Given the description of an element on the screen output the (x, y) to click on. 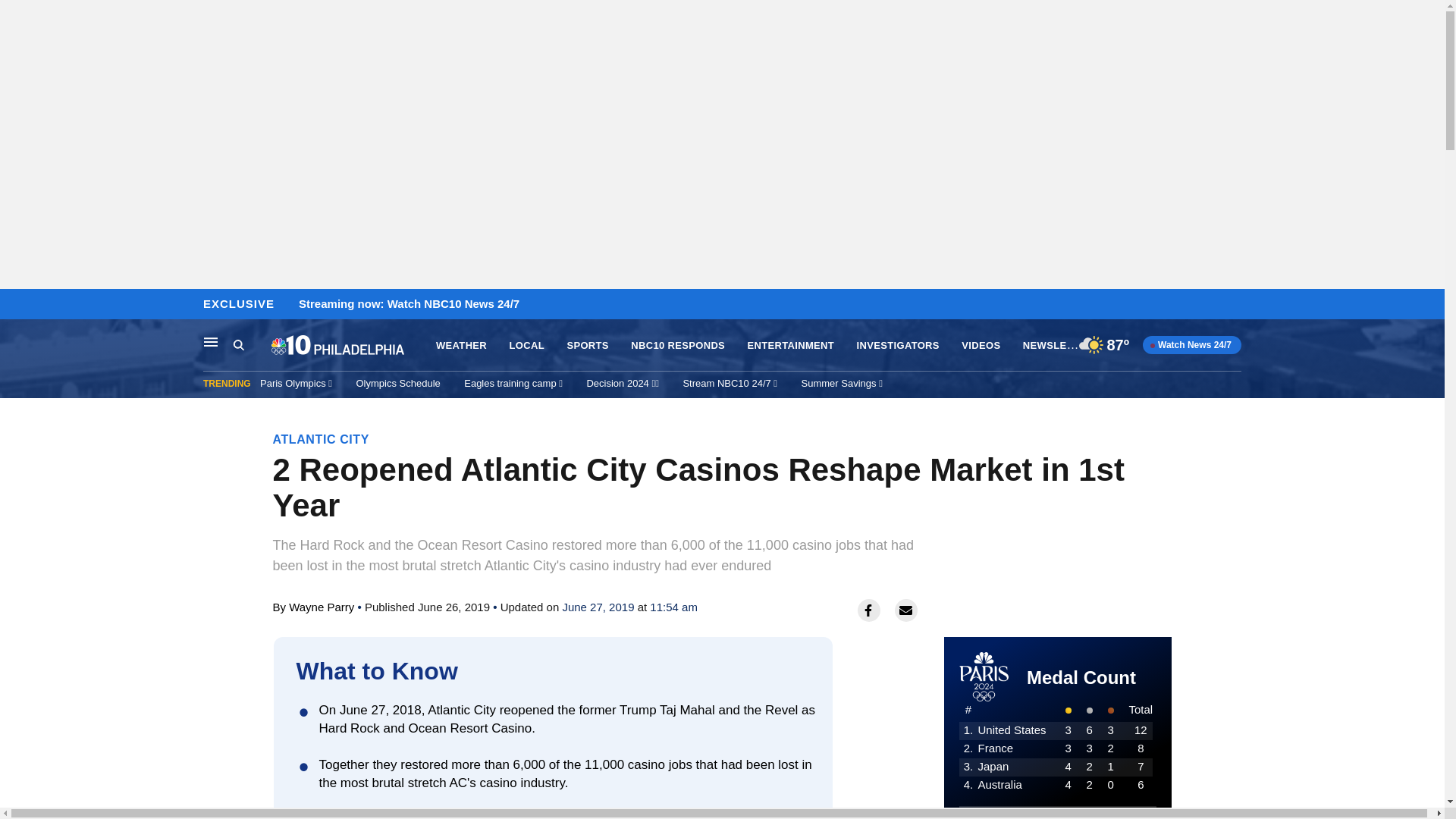
Main Navigation (210, 341)
SPORTS (587, 345)
ATLANTIC CITY (321, 439)
INVESTIGATORS (898, 345)
ENTERTAINMENT (791, 345)
Search (252, 345)
Olympics Schedule (398, 383)
Search (238, 344)
VIDEOS (980, 345)
NBC10 RESPONDS (677, 345)
LOCAL (526, 345)
Skip to content (16, 304)
WEATHER (460, 345)
NEWSLETTERS (1061, 344)
